Given the description of an element on the screen output the (x, y) to click on. 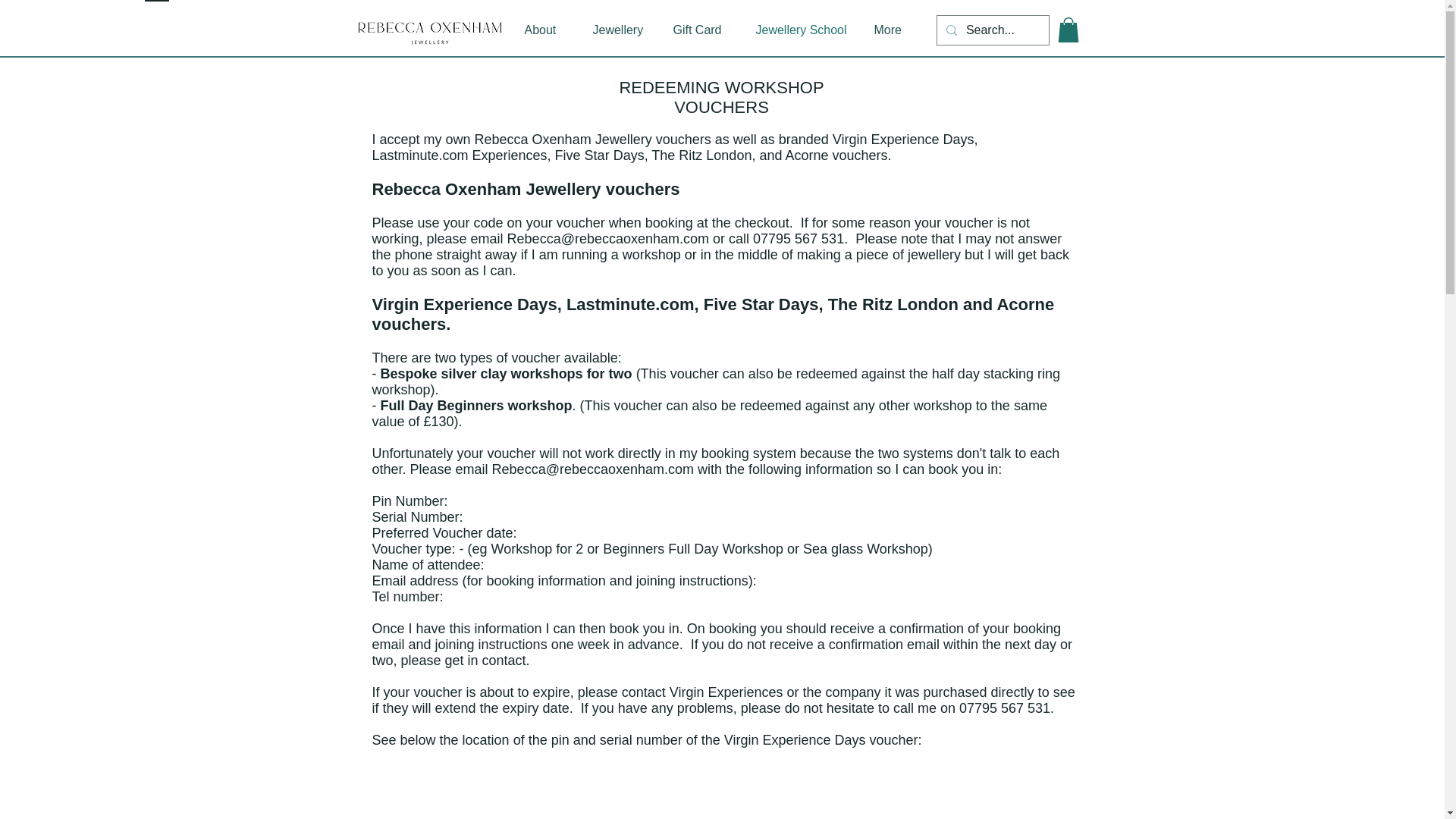
Jewellery School (796, 29)
About (539, 29)
Gift Card (694, 29)
Jewellery (613, 29)
